Given the description of an element on the screen output the (x, y) to click on. 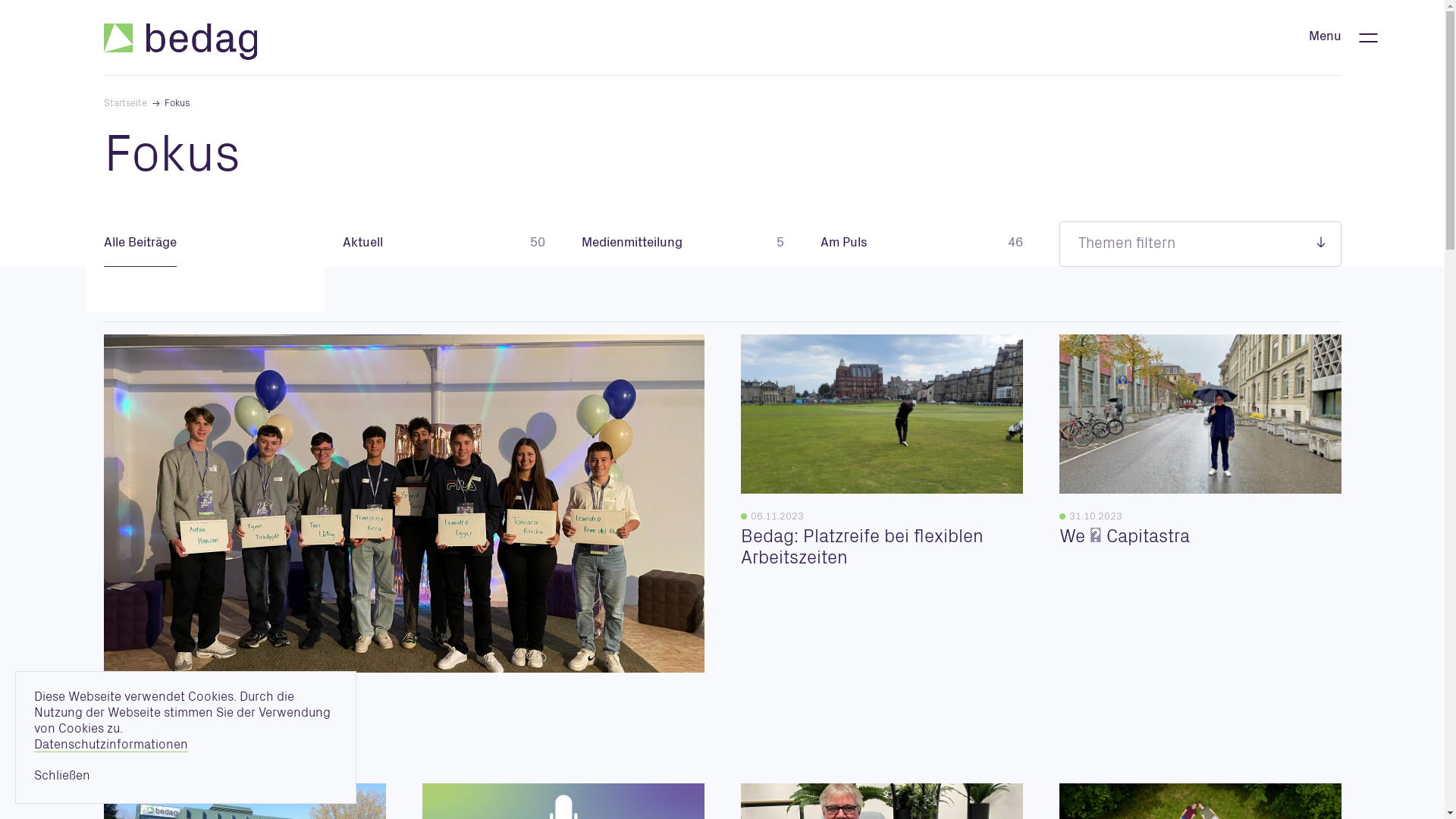
Datenschutzinformationen Element type: text (111, 745)
06.11.2023
Bedag: Platzreife bei flexiblen Arbeitszeiten Element type: text (881, 531)
Am Puls
46 Element type: text (921, 243)
Fokus Element type: text (172, 104)
Zur Startseite Element type: hover (180, 41)
Medienmitteilung
5 Element type: text (681, 243)
Startseite Element type: text (126, 104)
Aktuell
50 Element type: text (443, 243)
